Given the description of an element on the screen output the (x, y) to click on. 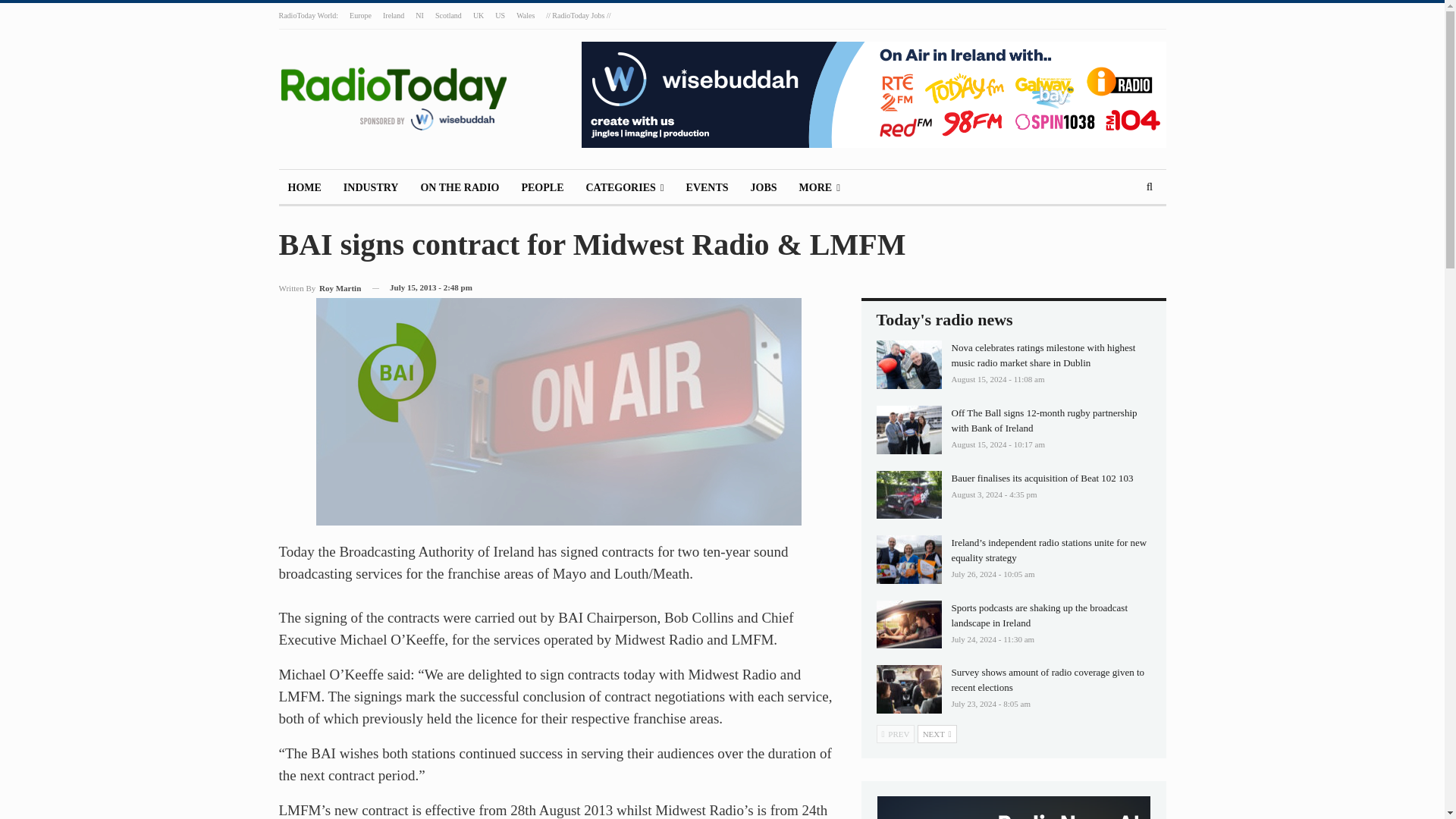
Ireland (393, 15)
Europe (360, 15)
CATEGORIES (624, 187)
MORE (819, 187)
Wales (525, 15)
US (500, 15)
UK (478, 15)
RadioToday World: (309, 15)
Scotland (448, 15)
JOBS (763, 187)
